Given the description of an element on the screen output the (x, y) to click on. 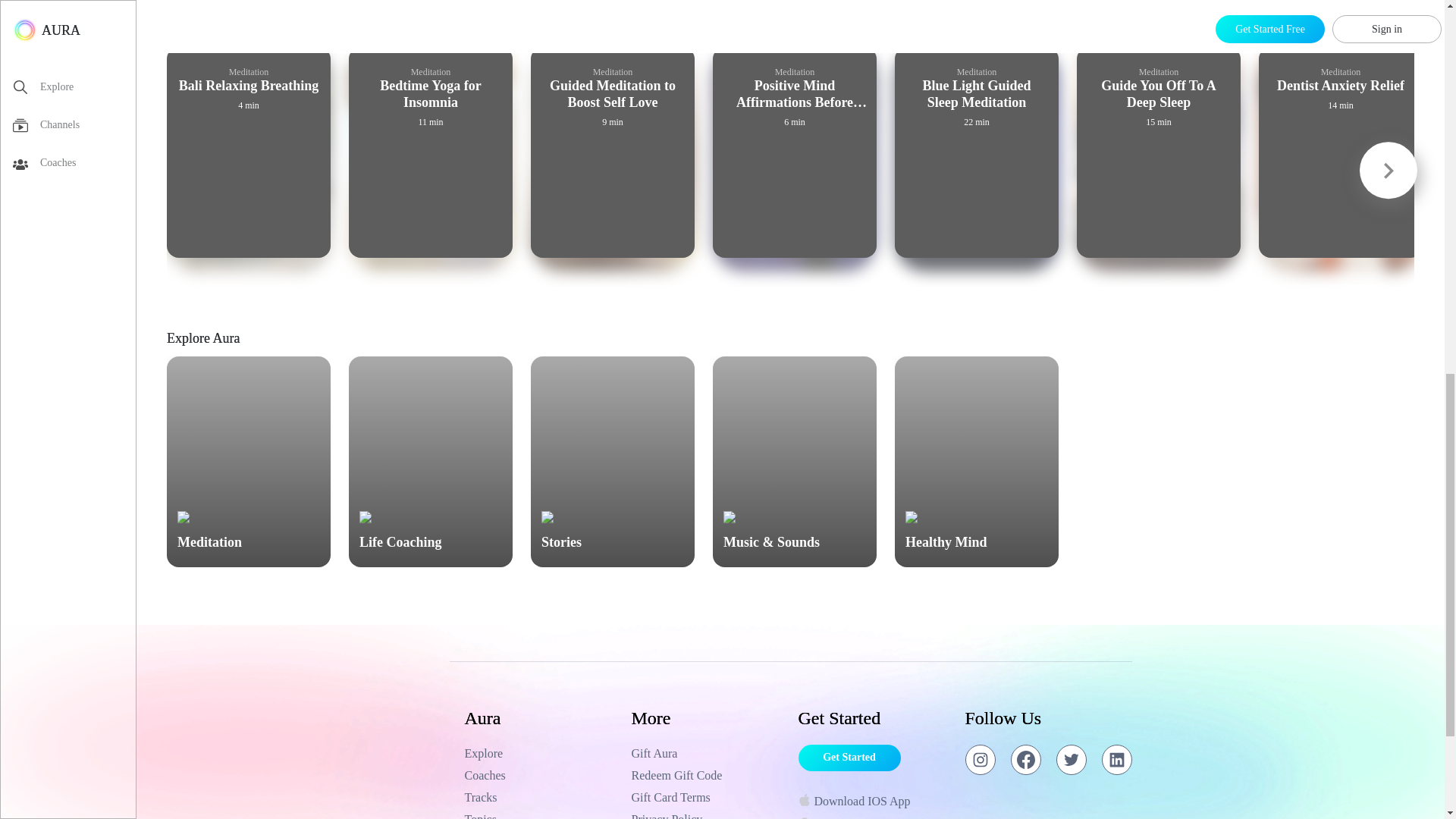
Coaches (539, 775)
Tracks (539, 797)
Gift Aura (706, 753)
Gift Card Terms (706, 797)
Explore (539, 753)
Topics (539, 814)
Redeem Gift Code (706, 775)
View All (1392, 32)
